Given the description of an element on the screen output the (x, y) to click on. 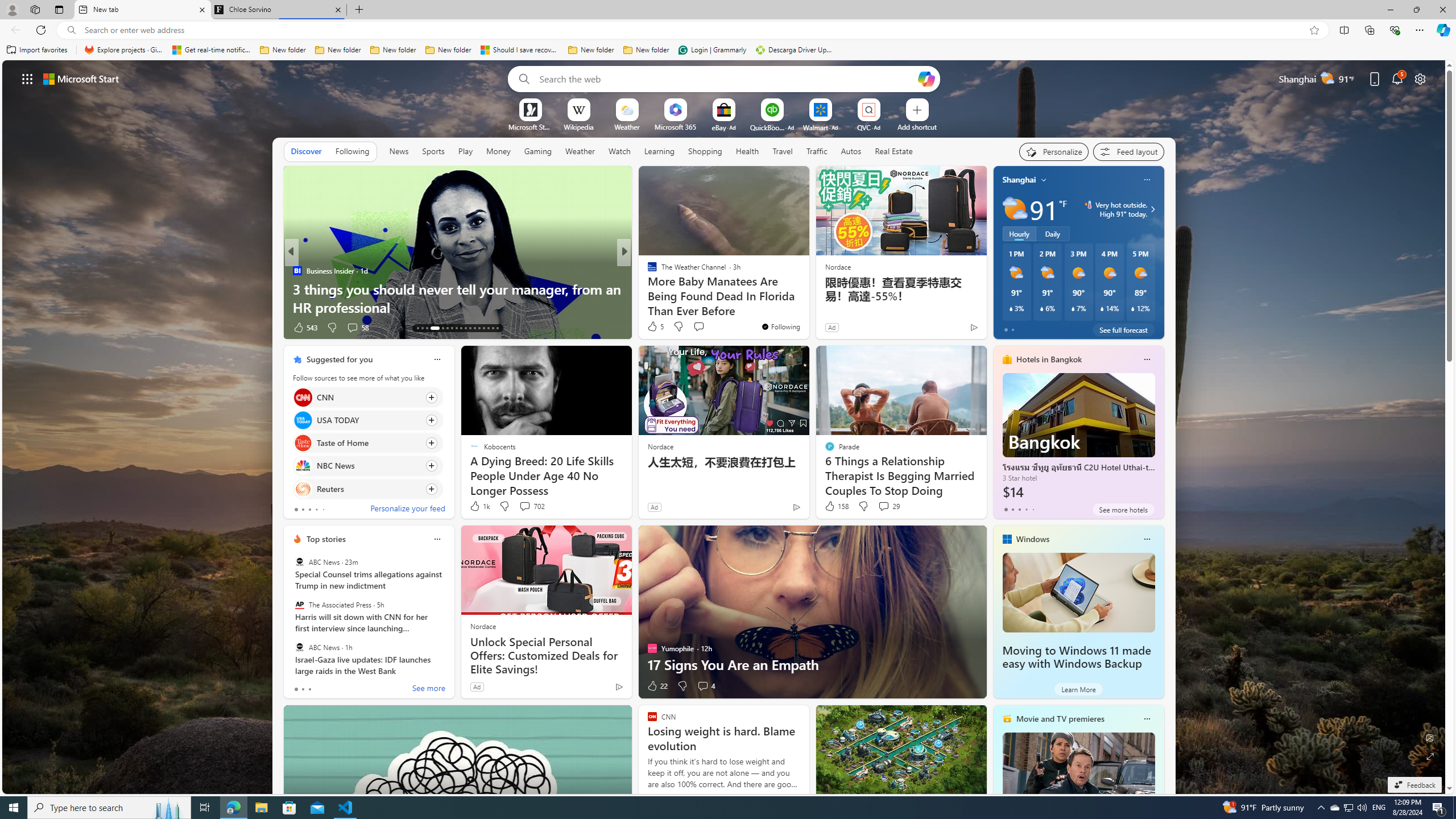
Learn More (1078, 689)
Real Estate (893, 151)
Shanghai (1018, 179)
Chloe Sorvino (277, 9)
146 Like (654, 327)
Weather (579, 151)
AutomationID: tab-19 (451, 328)
USA TODAY (302, 419)
View comments 1 Comment (702, 327)
